Given the description of an element on the screen output the (x, y) to click on. 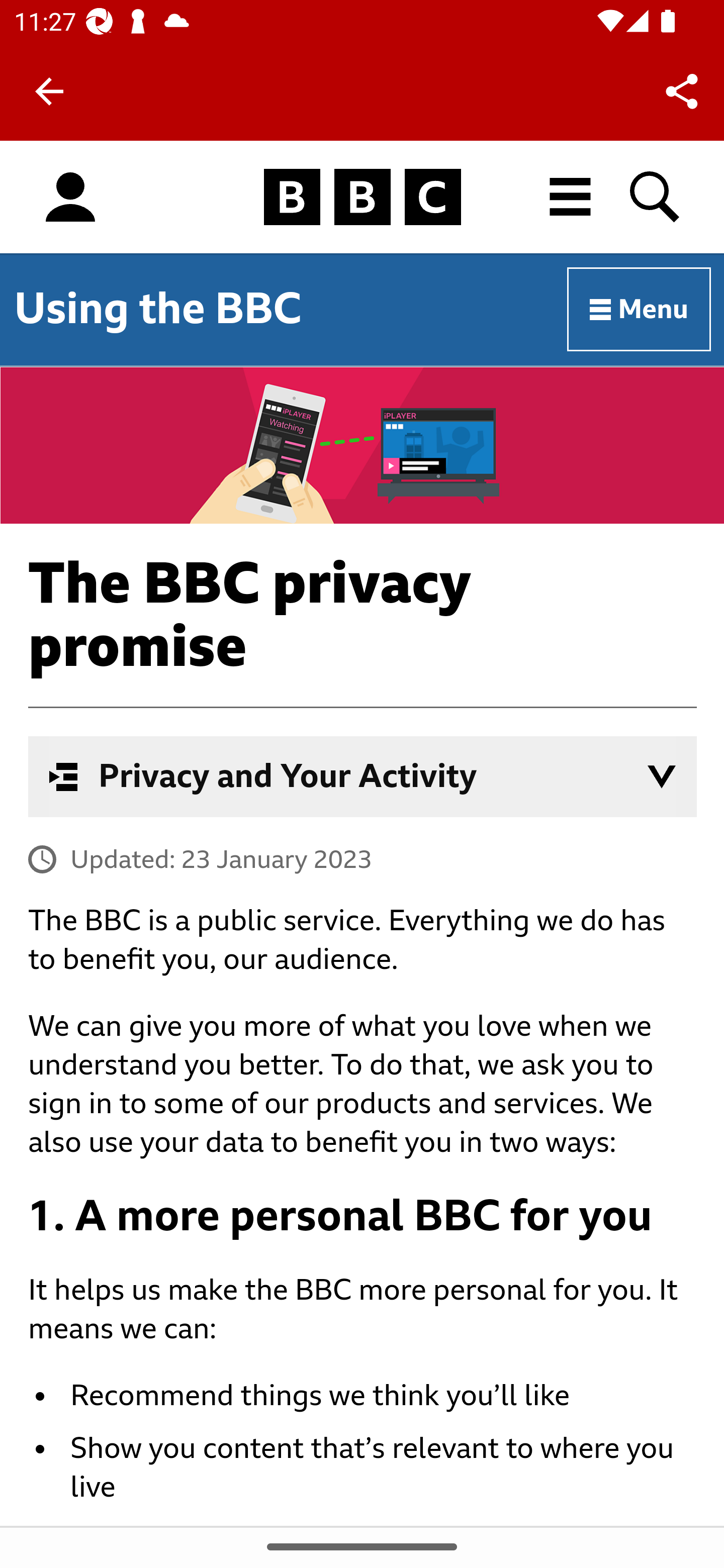
Back (49, 91)
Share (681, 90)
All BBC destinations menu (570, 197)
Search BBC (655, 197)
Sign in (70, 198)
Homepage (361, 198)
Menu (639, 309)
Using the BBC (157, 307)
Privacy and Your Activity (362, 775)
